Given the description of an element on the screen output the (x, y) to click on. 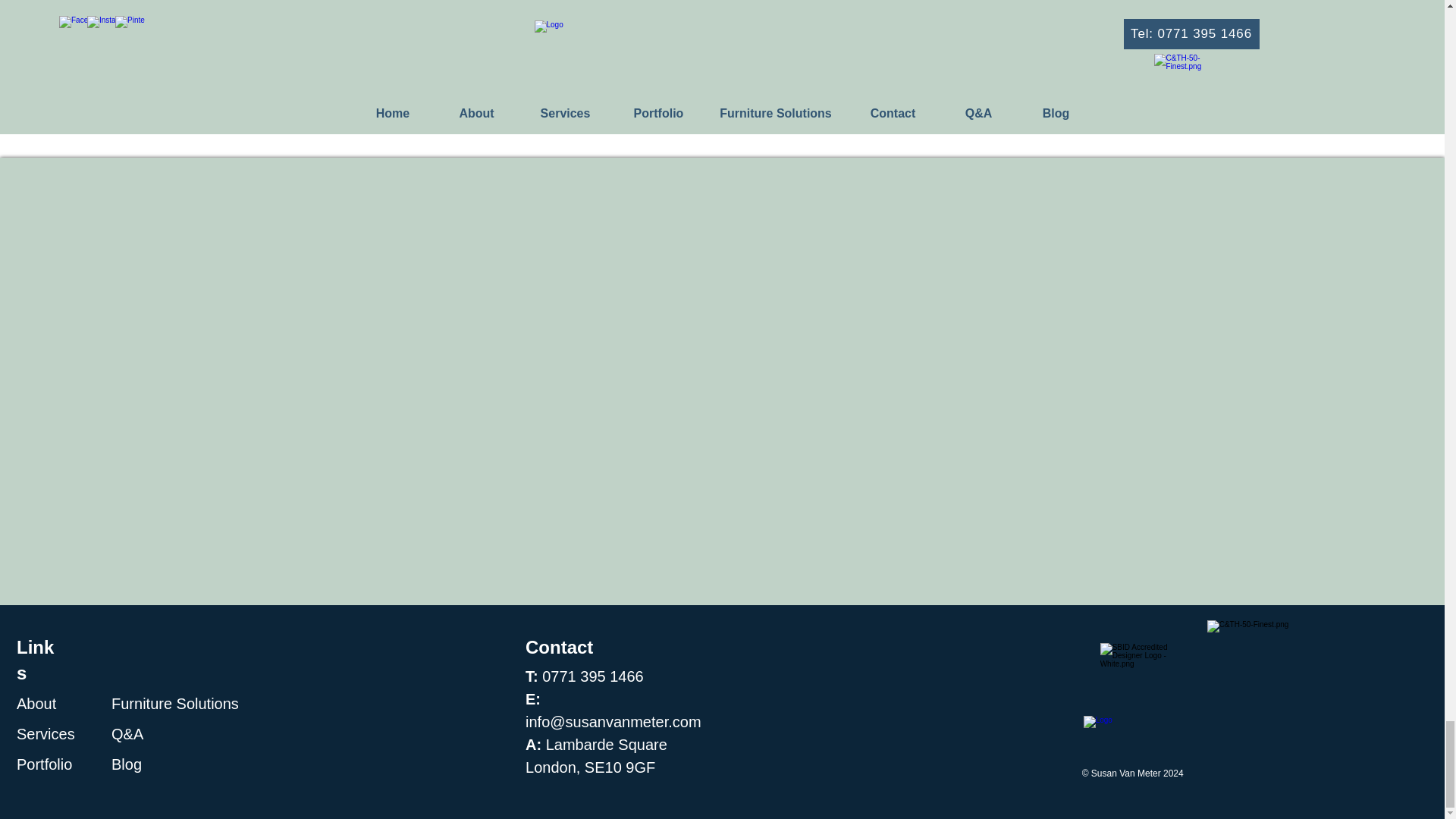
Post not marked as liked (806, 102)
7 Great Reasons to Use an Interior Designer (966, 49)
0 (439, 102)
0 (685, 102)
Post not marked as liked (560, 102)
0 (936, 102)
